Given the description of an element on the screen output the (x, y) to click on. 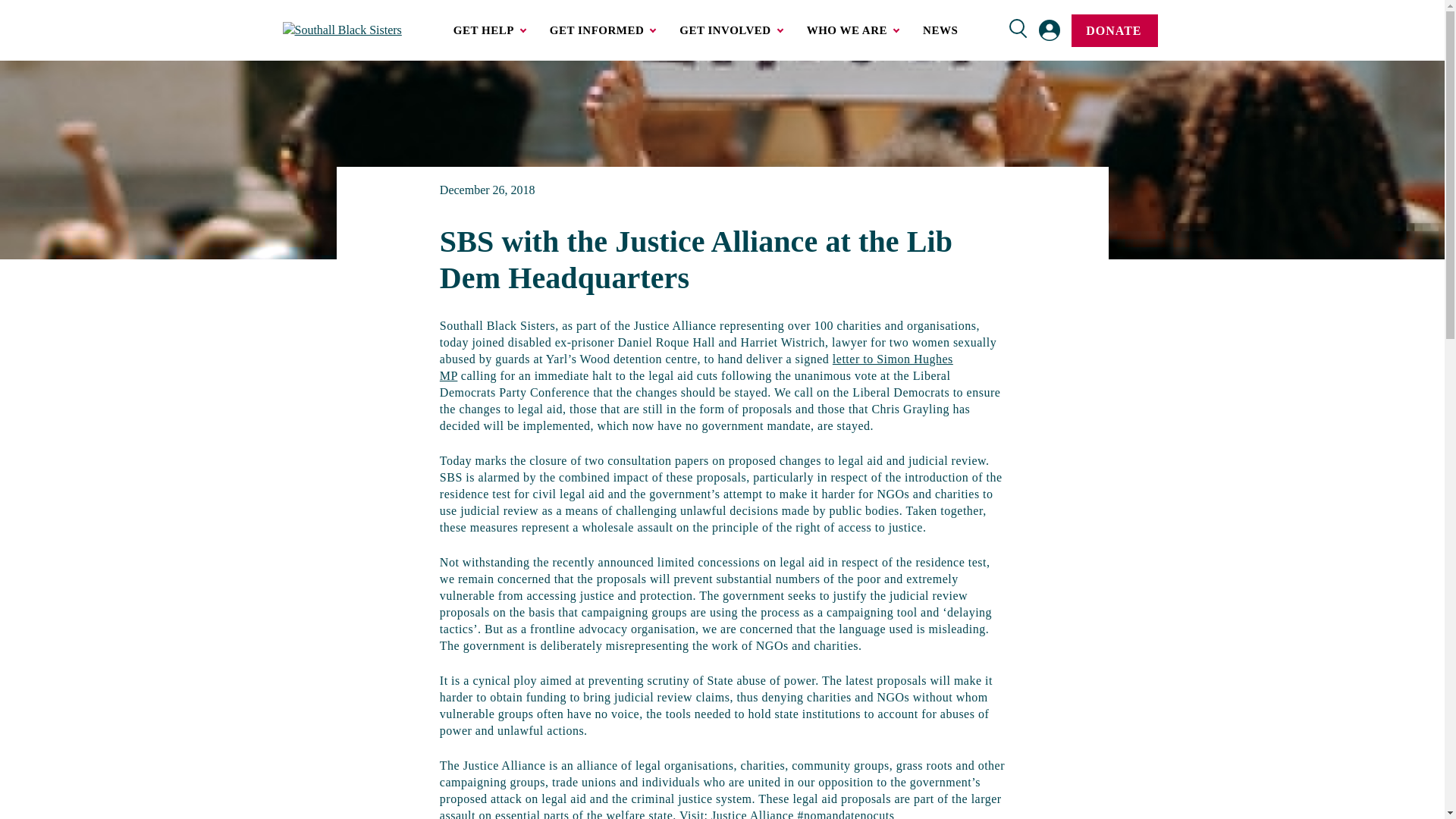
NEWS (940, 30)
GET HELP (489, 30)
Justice Alliance (752, 814)
Search (1017, 31)
Work with us (729, 16)
Justice Alliance (752, 814)
DONATE (1114, 29)
GET INFORMED (601, 30)
Justice Alliance Open Letter (696, 367)
WHO WE ARE (852, 30)
GET INVOLVED (729, 30)
letter to Simon Hughes MP (696, 367)
Contact us (851, 16)
